Given the description of an element on the screen output the (x, y) to click on. 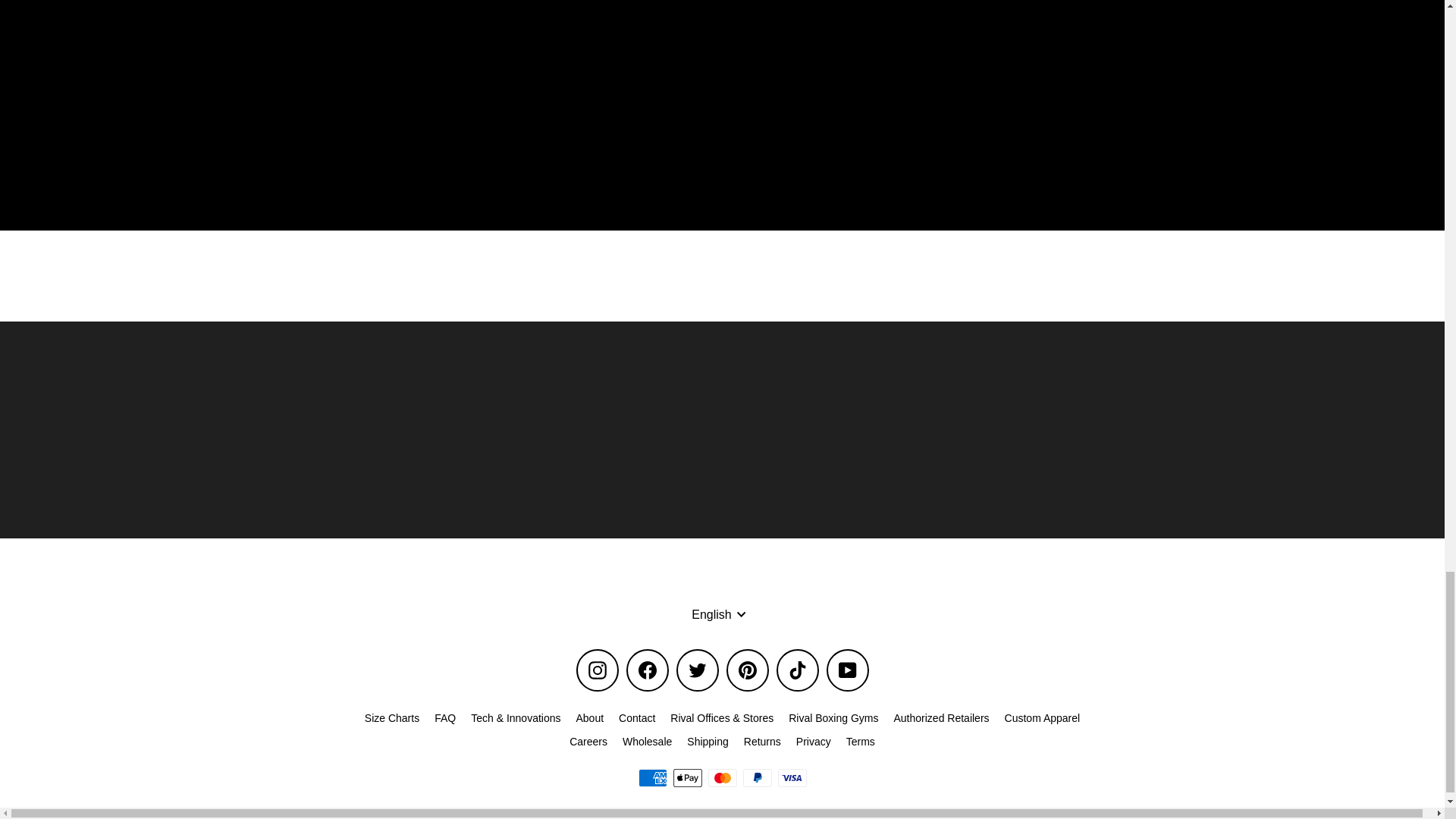
Rival Boxing Gear Canada on Instagram (597, 670)
